Given the description of an element on the screen output the (x, y) to click on. 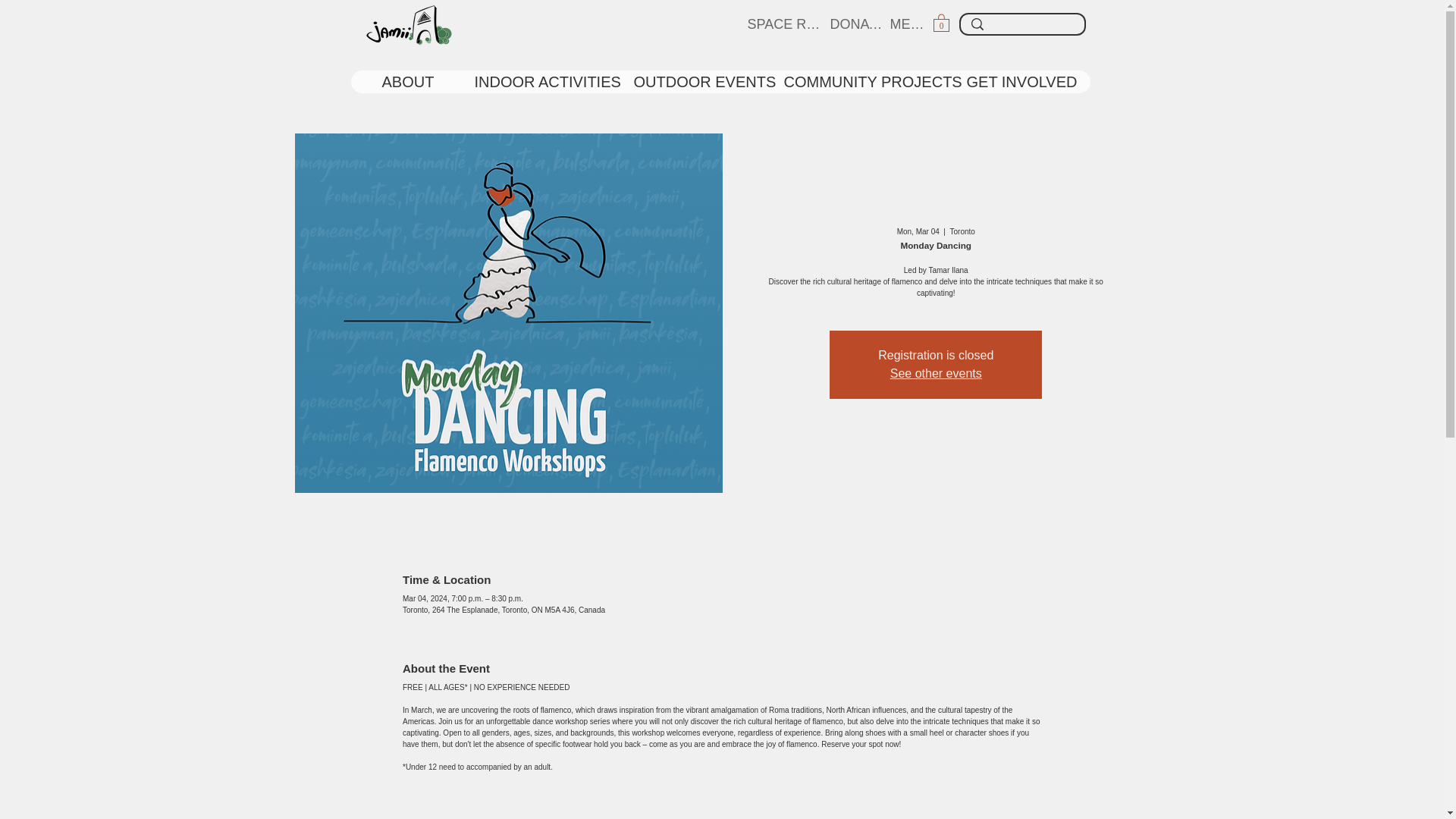
ABOUT (416, 81)
INDOOR ACTIVITIES (542, 81)
OUTDOOR EVENTS (696, 81)
SPACE RENTAL (787, 24)
COMMUNITY PROJECTS (863, 81)
DONATE (857, 24)
MERCH (912, 24)
Map (721, 811)
